Given the description of an element on the screen output the (x, y) to click on. 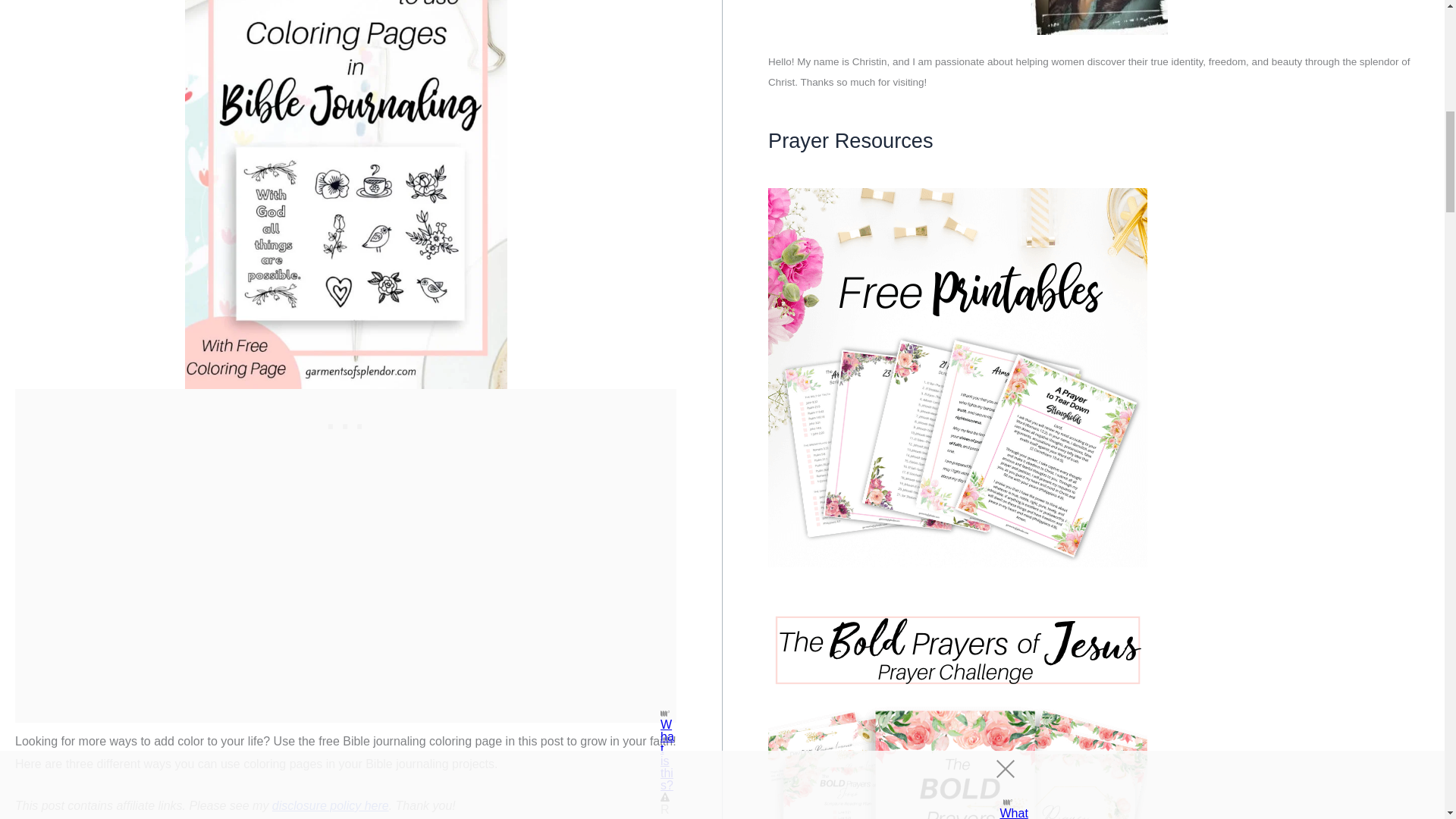
3rd party ad content (345, 423)
